Given the description of an element on the screen output the (x, y) to click on. 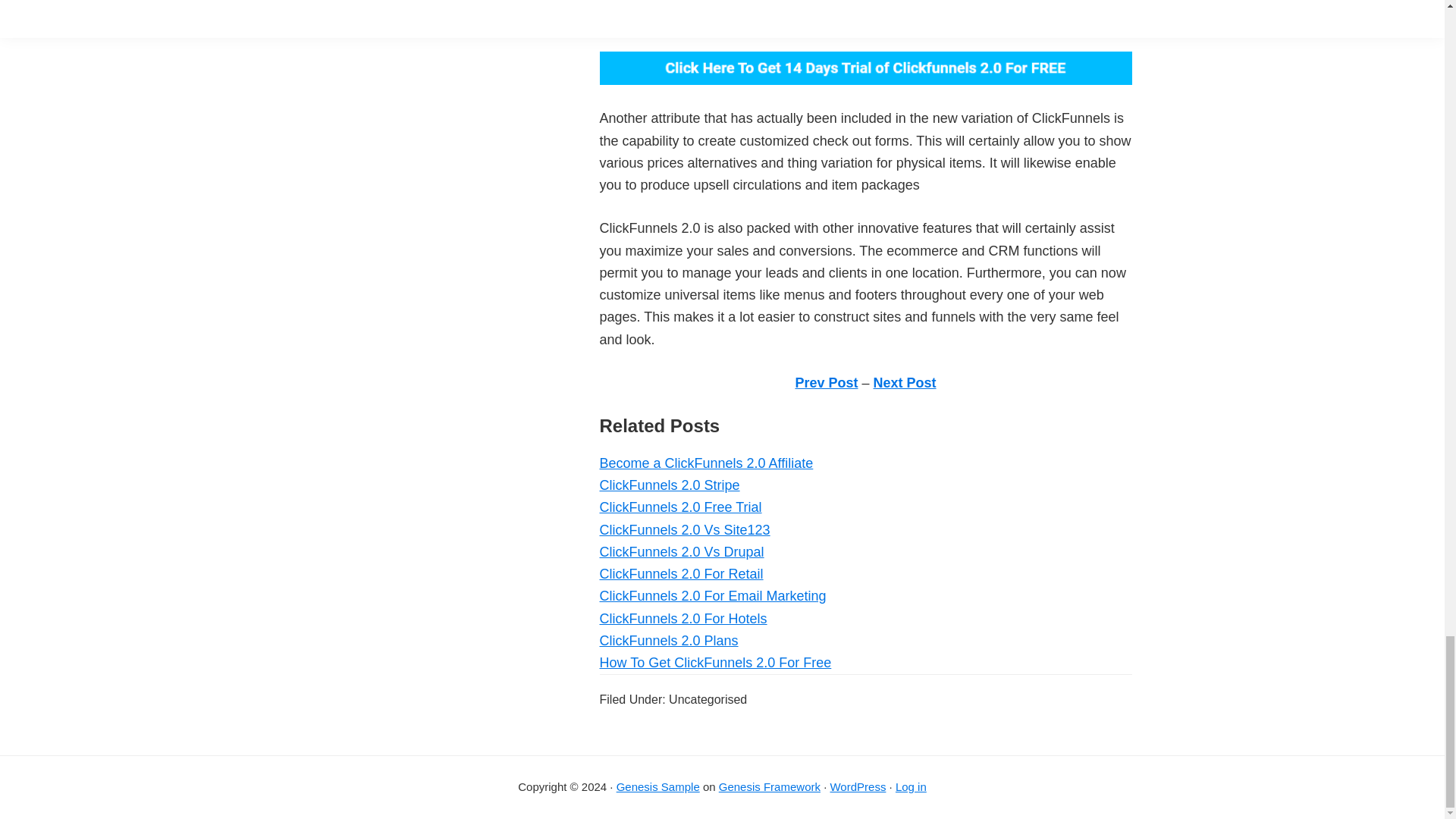
ClickFunnels 2.0 Free Trial (679, 507)
ClickFunnels 2.0 Stripe (668, 485)
ClickFunnels 2.0 Plans (668, 640)
Next Post (904, 382)
ClickFunnels 2.0 Plans (668, 640)
ClickFunnels 2.0 Free Trial (679, 507)
Prev Post (825, 382)
Become a ClickFunnels 2.0 Affiliate (705, 462)
Genesis Framework (770, 786)
ClickFunnels 2.0 For Retail (680, 573)
